Given the description of an element on the screen output the (x, y) to click on. 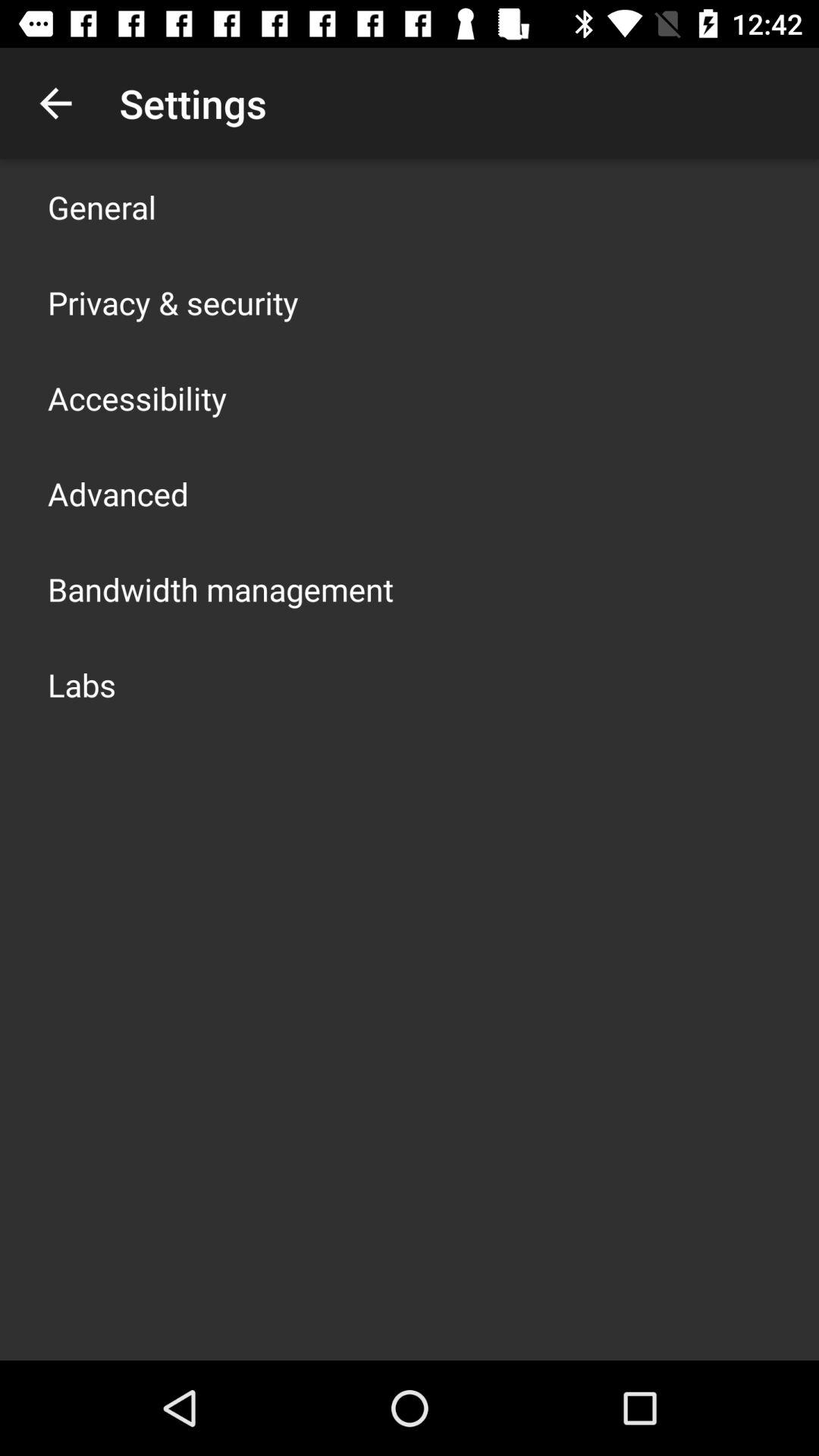
choose app above bandwidth management app (117, 493)
